Given the description of an element on the screen output the (x, y) to click on. 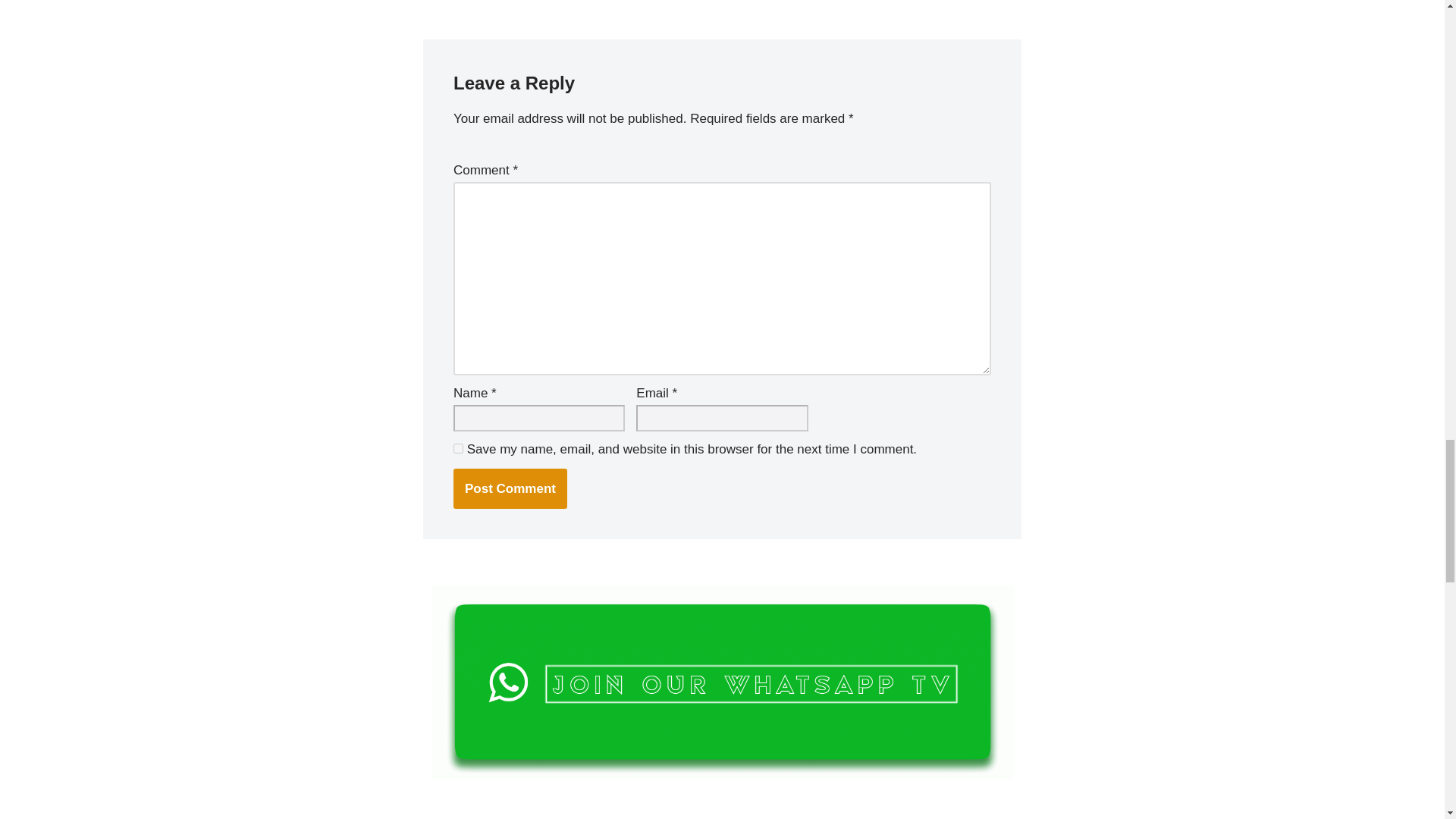
Post Comment (509, 488)
yes (457, 448)
